Given the description of an element on the screen output the (x, y) to click on. 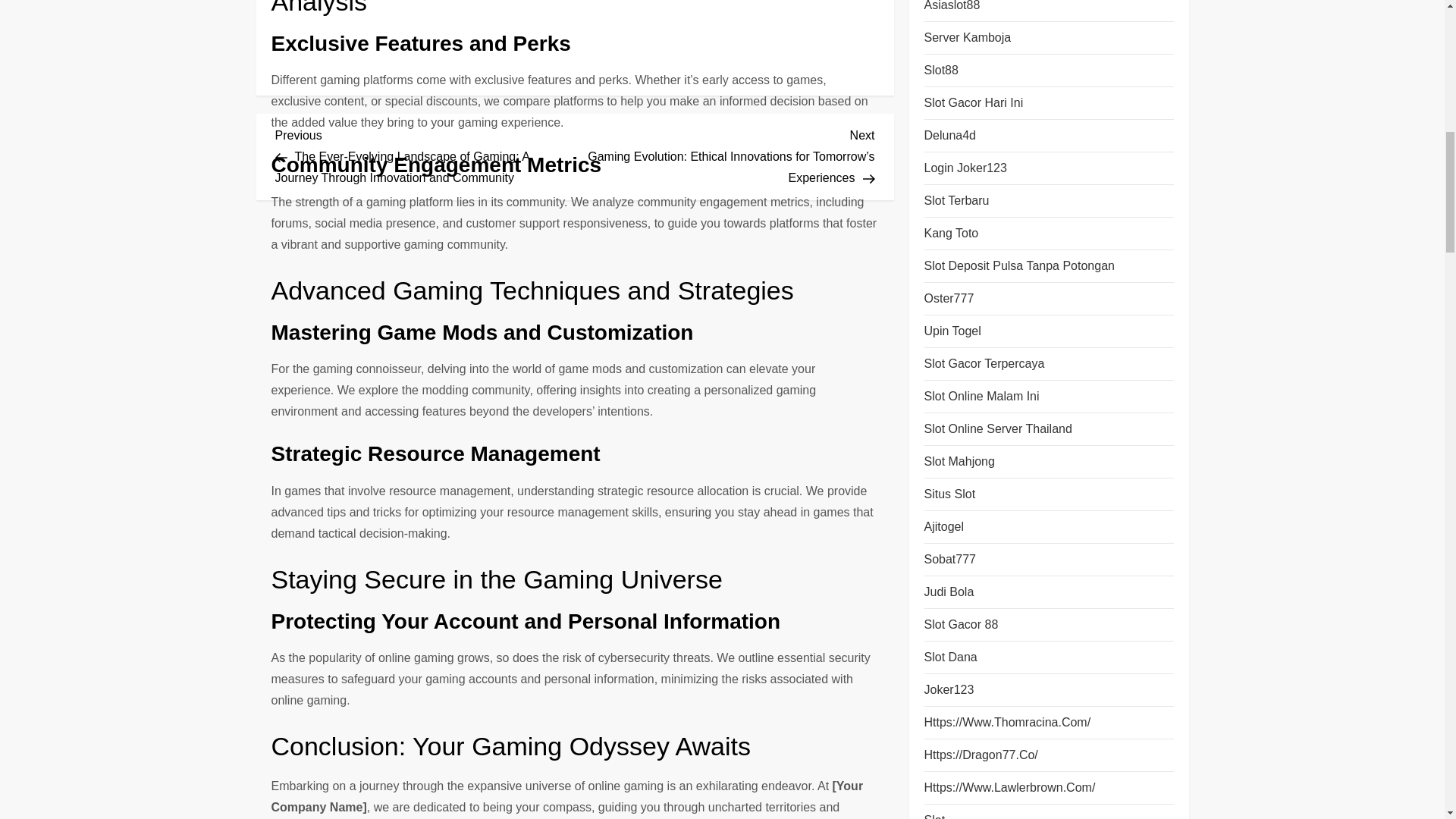
Slot Online Malam Ini (981, 396)
Ajitogel (942, 526)
Slot Mahjong (958, 461)
Server Kamboja (966, 37)
Slot Deposit Pulsa Tanpa Potongan (1018, 265)
Upin Togel (951, 331)
Login Joker123 (964, 168)
Kang Toto (950, 233)
Slot88 (940, 70)
Situs Slot (949, 494)
Slot Gacor Terpercaya (983, 363)
Oster777 (948, 298)
Asiaslot88 (951, 7)
Deluna4d (949, 135)
